Given the description of an element on the screen output the (x, y) to click on. 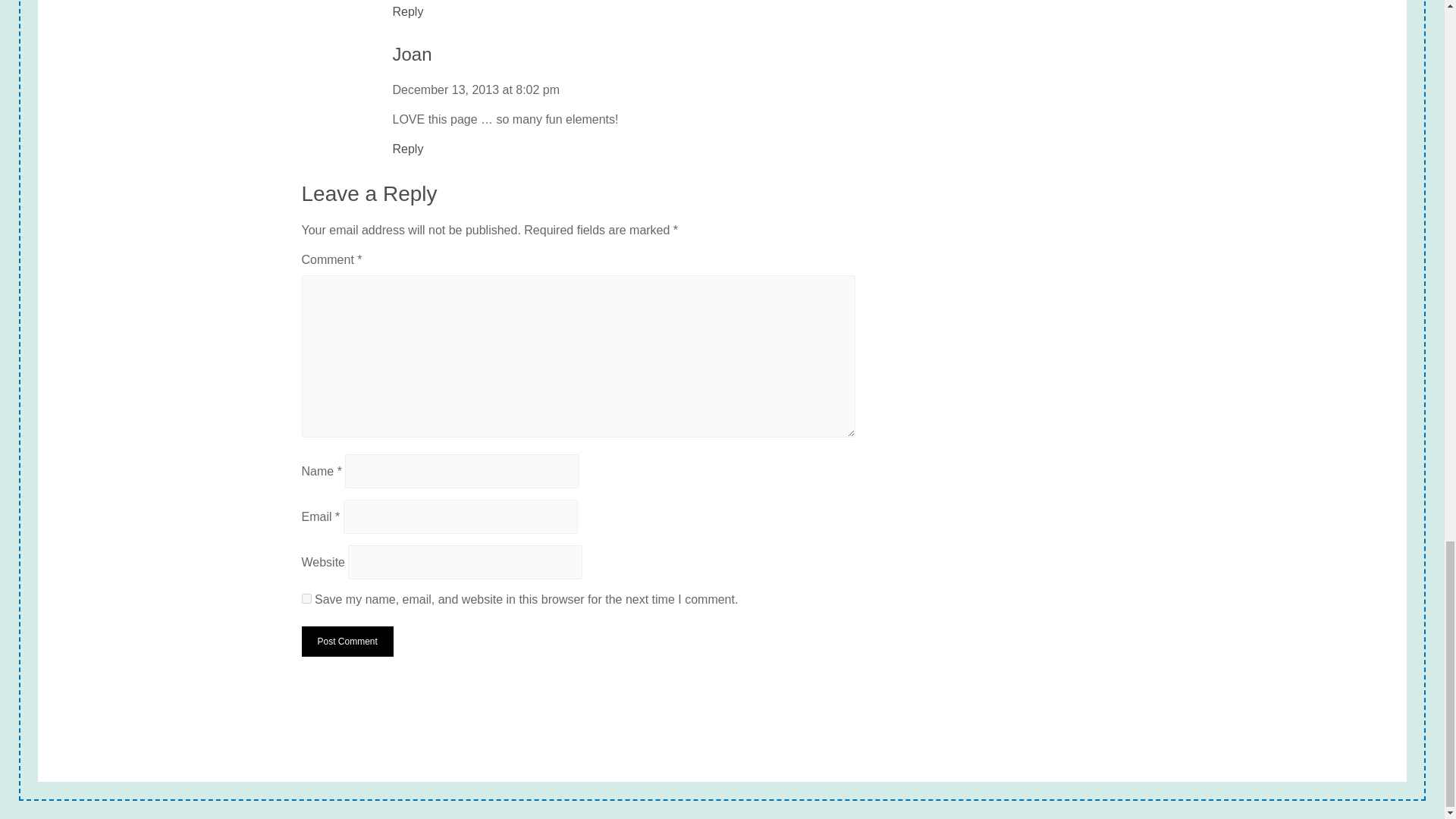
Reply (408, 12)
yes (306, 598)
Reply (408, 149)
Post Comment (347, 641)
